Given the description of an element on the screen output the (x, y) to click on. 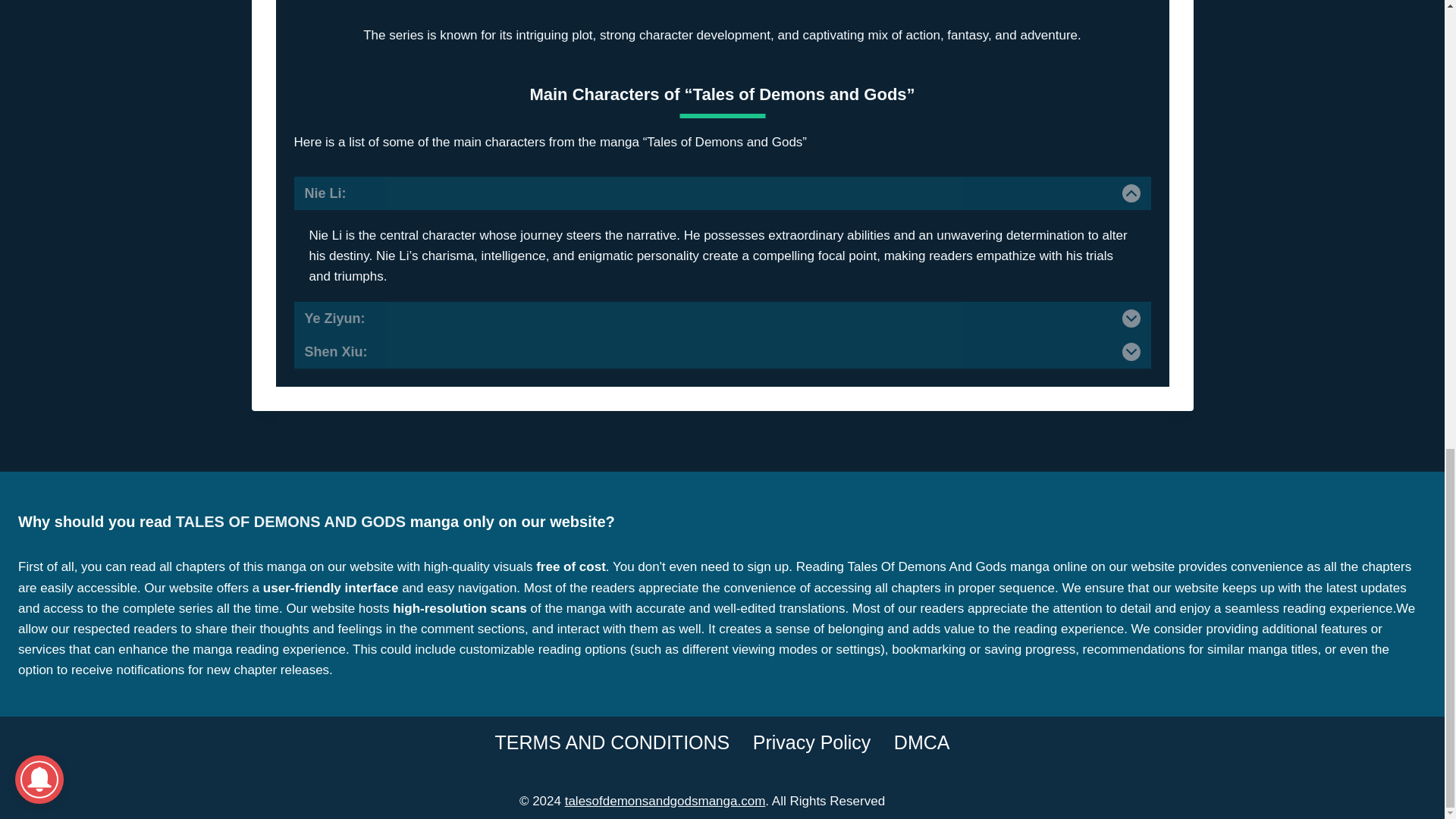
Privacy Policy (811, 742)
Nie Li: (722, 192)
DMCA (921, 742)
TERMS AND CONDITIONS (612, 742)
Shen Xiu: (722, 351)
Ye Ziyun: (722, 318)
TALES OF DEMONS AND GODS (293, 521)
talesofdemonsandgodsmanga.com (664, 800)
